Given the description of an element on the screen output the (x, y) to click on. 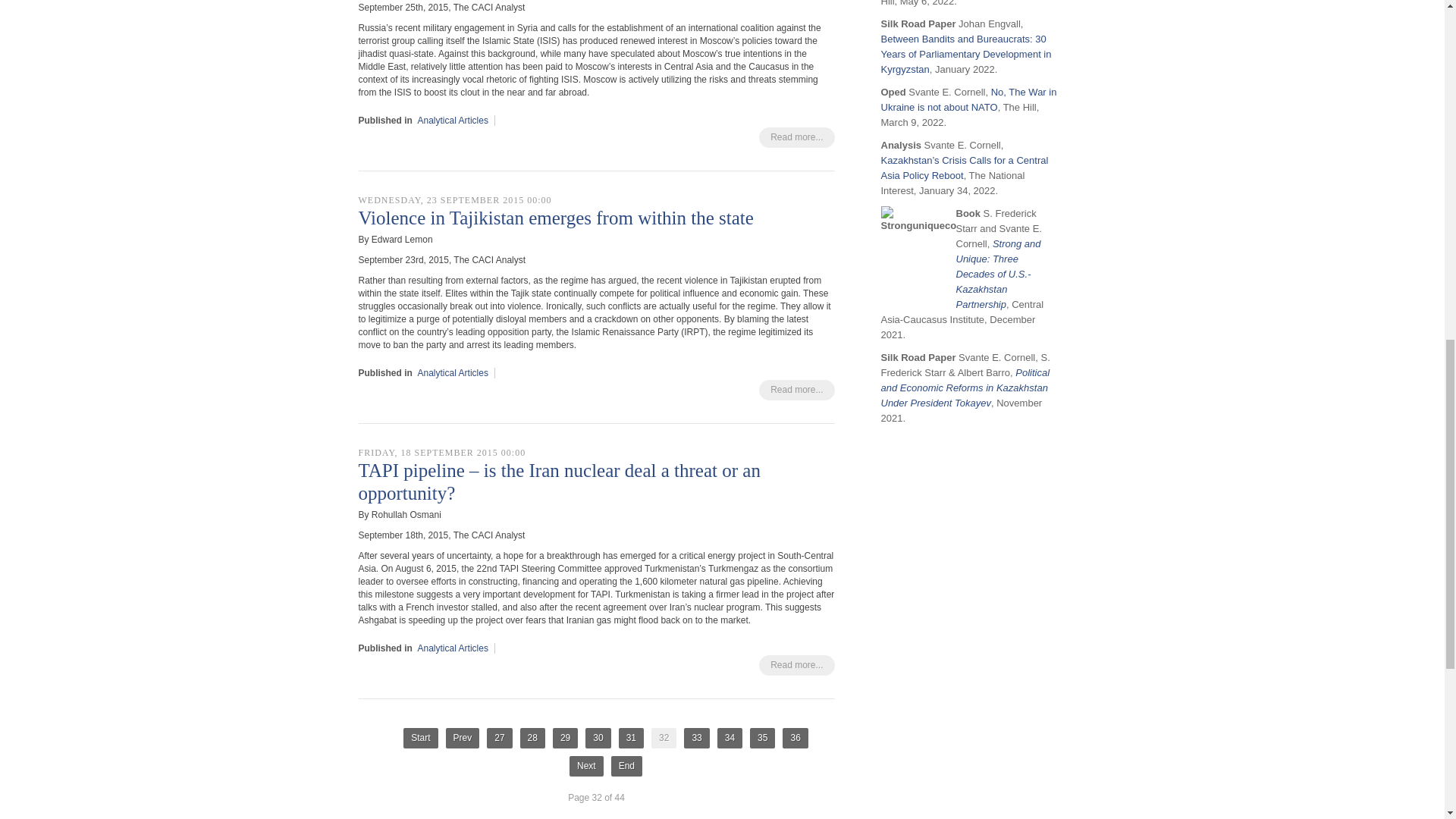
31 (630, 738)
31 (630, 738)
Prev (462, 738)
Prev (462, 738)
36 (795, 738)
27 (499, 738)
32 (663, 738)
Analytical Articles (452, 647)
30 (597, 738)
Next (586, 765)
